Given the description of an element on the screen output the (x, y) to click on. 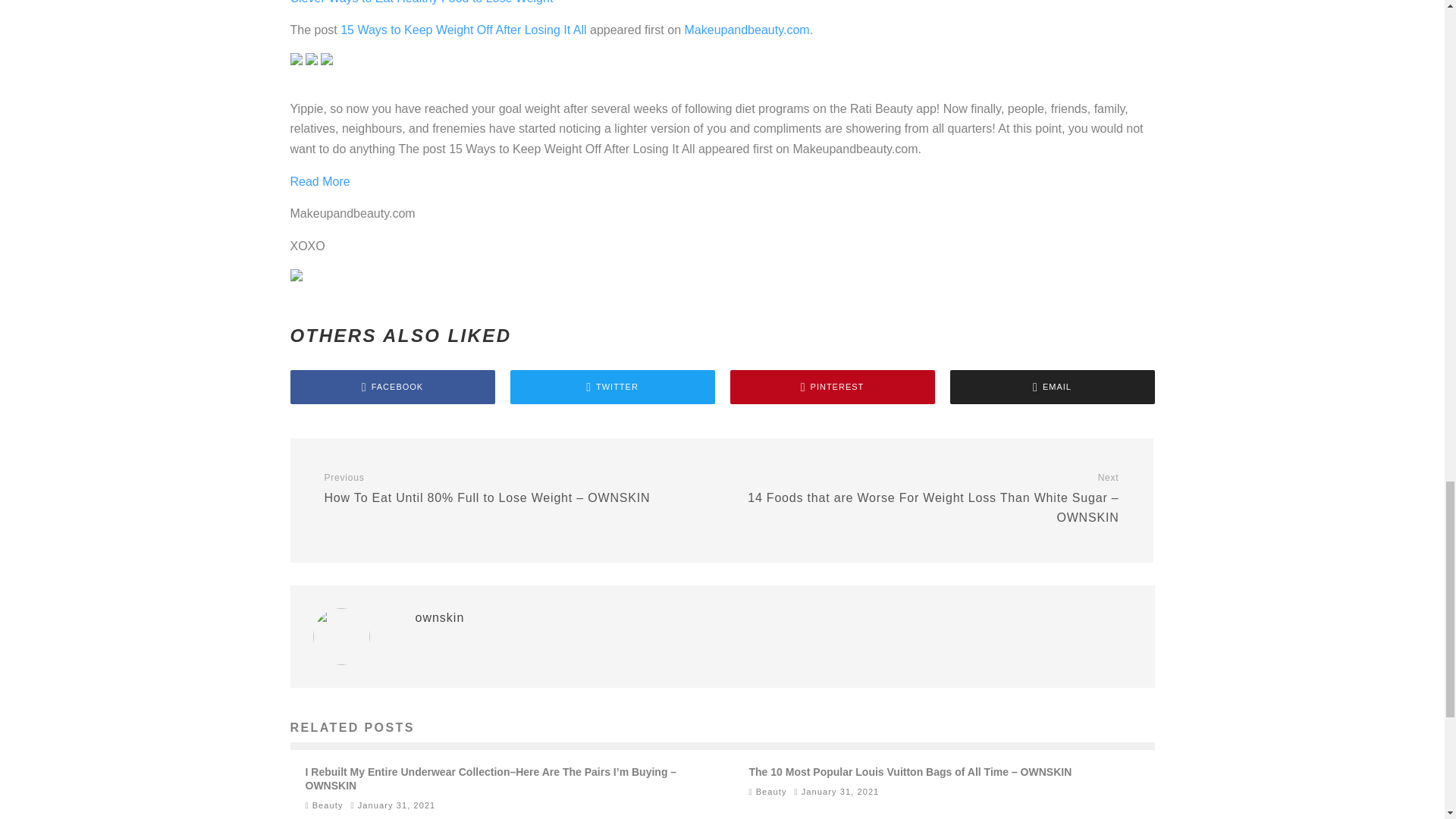
Beauty (328, 805)
Beauty (771, 791)
15 Ways to Keep Weight Off After Losing It All (463, 29)
Read More (319, 181)
FACEBOOK (392, 387)
EMAIL (1051, 387)
Clever Ways to Eat Healthy Food to Lose Weight (421, 2)
TWITTER (611, 387)
Makeupandbeauty.com (746, 29)
ownskin (439, 617)
PINTEREST (831, 387)
